Given the description of an element on the screen output the (x, y) to click on. 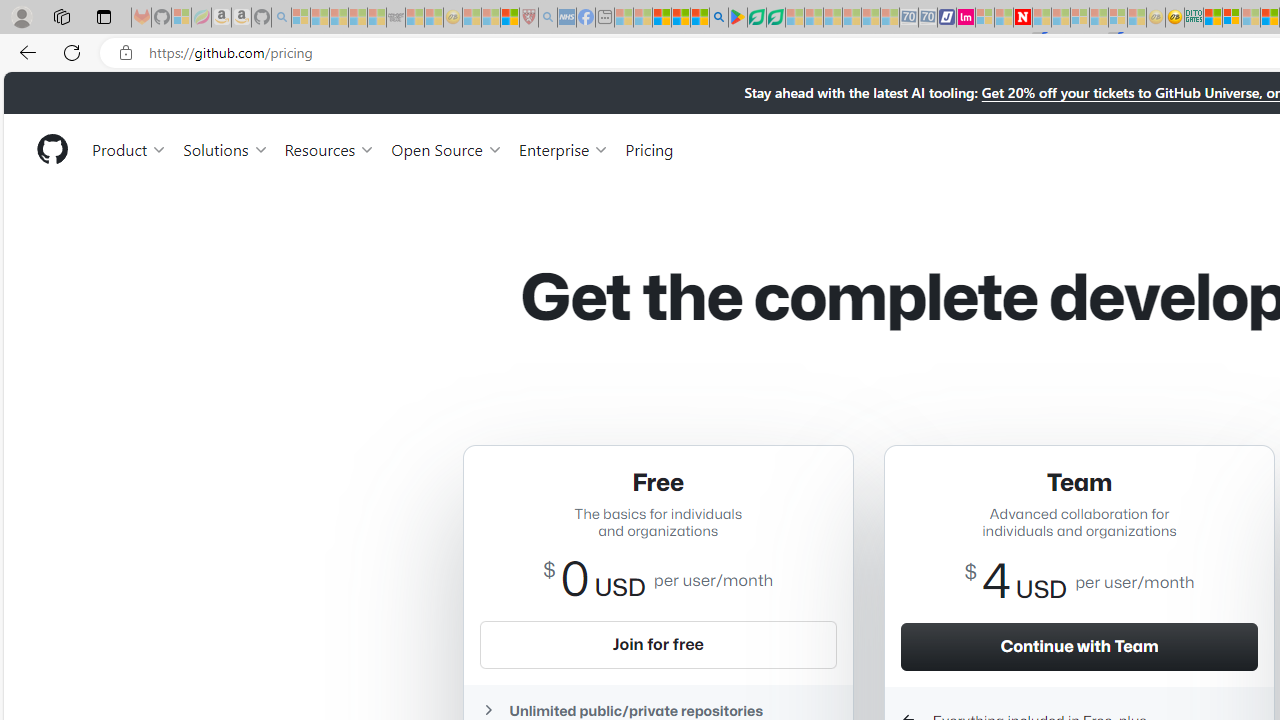
Jobs - lastminute.com Investor Portal (966, 17)
Solutions (225, 148)
Enterprise (563, 148)
Pets - MSN (680, 17)
Microsoft Word - consumer-privacy address update 2.2021 (775, 17)
Continue with Team (1079, 646)
